Given the description of an element on the screen output the (x, y) to click on. 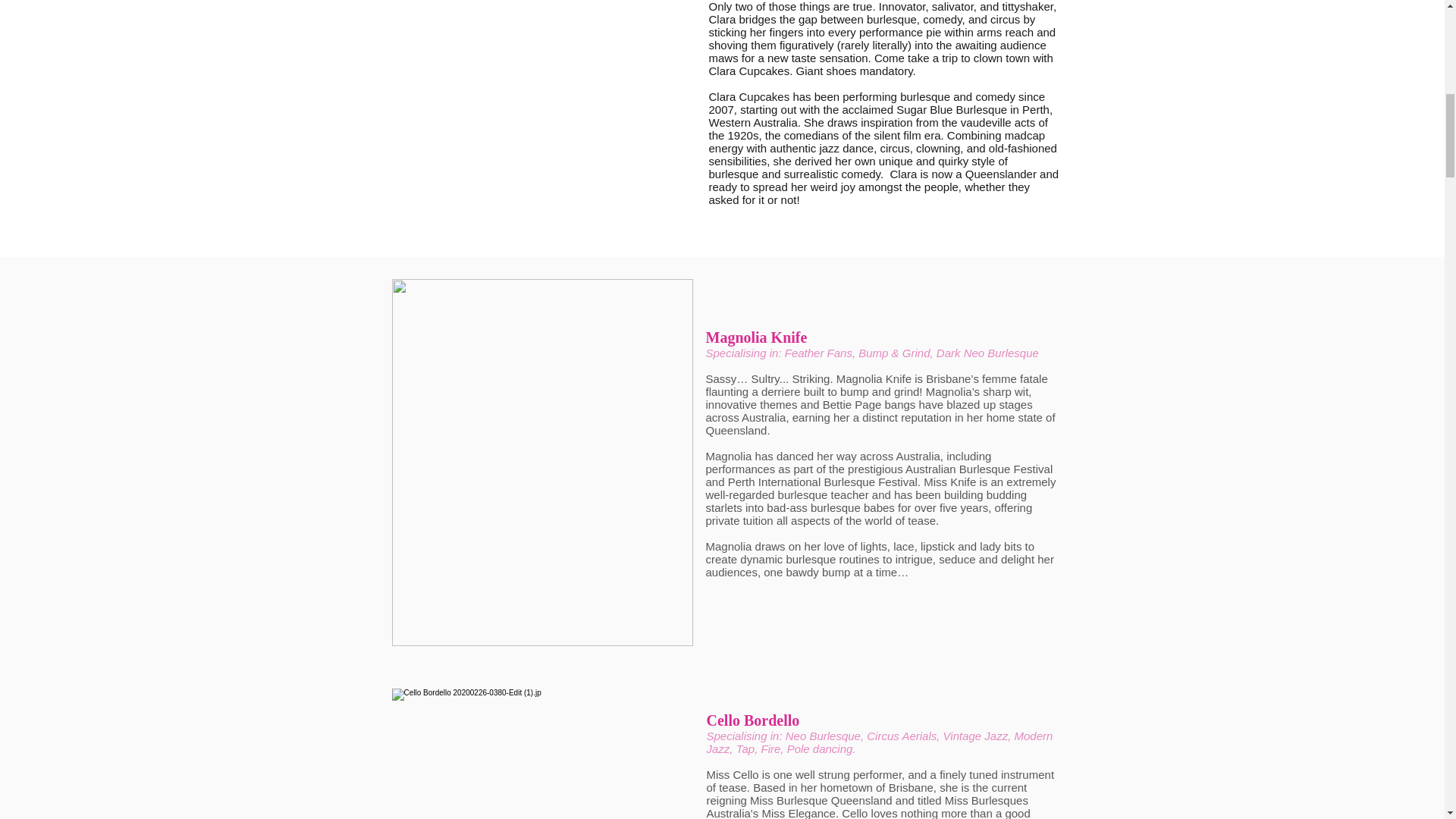
BombshellsCloudlandPUP-Light-5.jpg (542, 753)
